Given the description of an element on the screen output the (x, y) to click on. 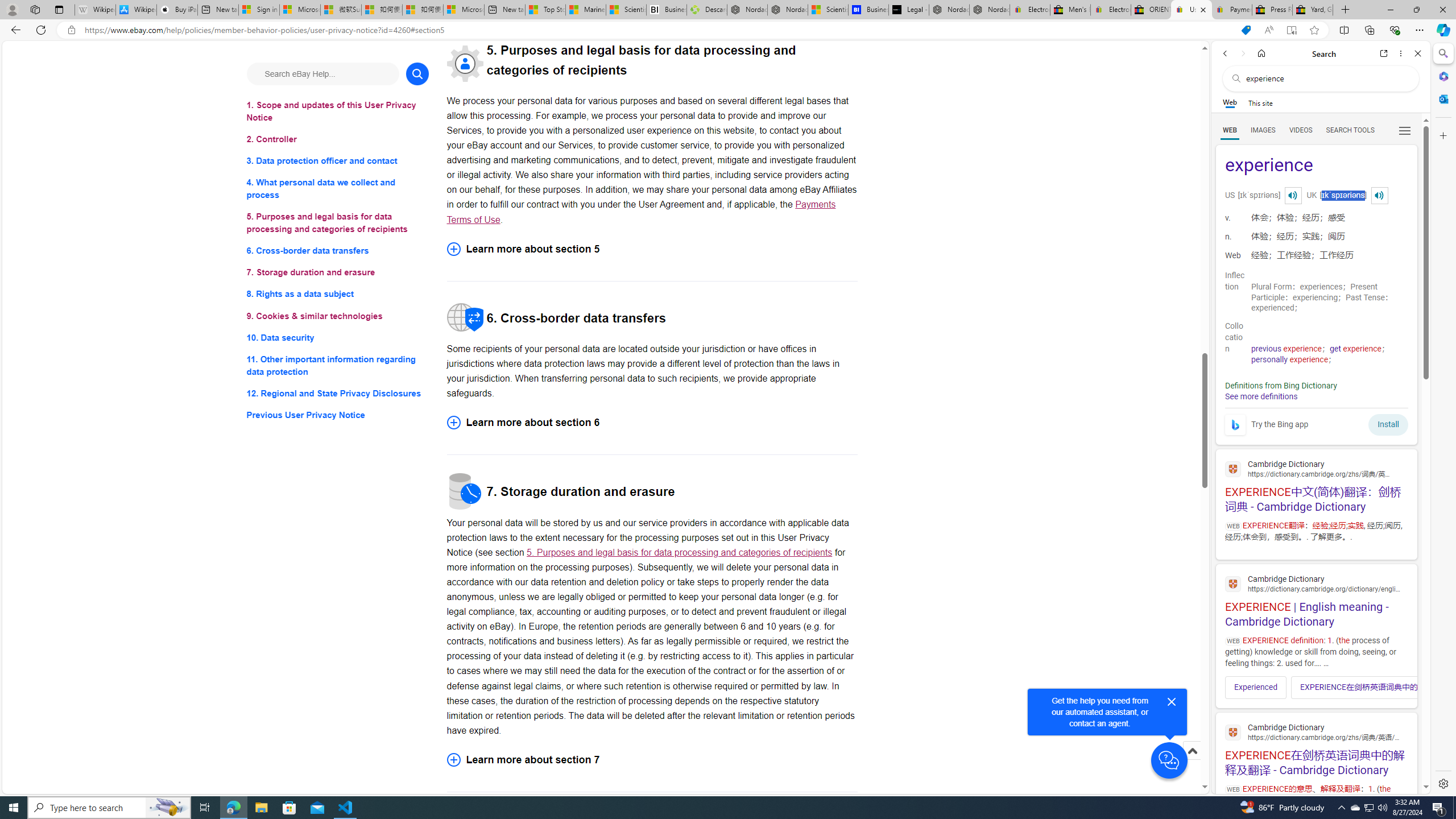
To get missing image descriptions, open the context menu. (1234, 424)
1. Scope and updates of this User Privacy Notice (337, 111)
9. Cookies & similar technologies (337, 315)
IMAGES (1262, 130)
2. Controller (337, 138)
Search Filter, VIDEOS (1300, 129)
